Given the description of an element on the screen output the (x, y) to click on. 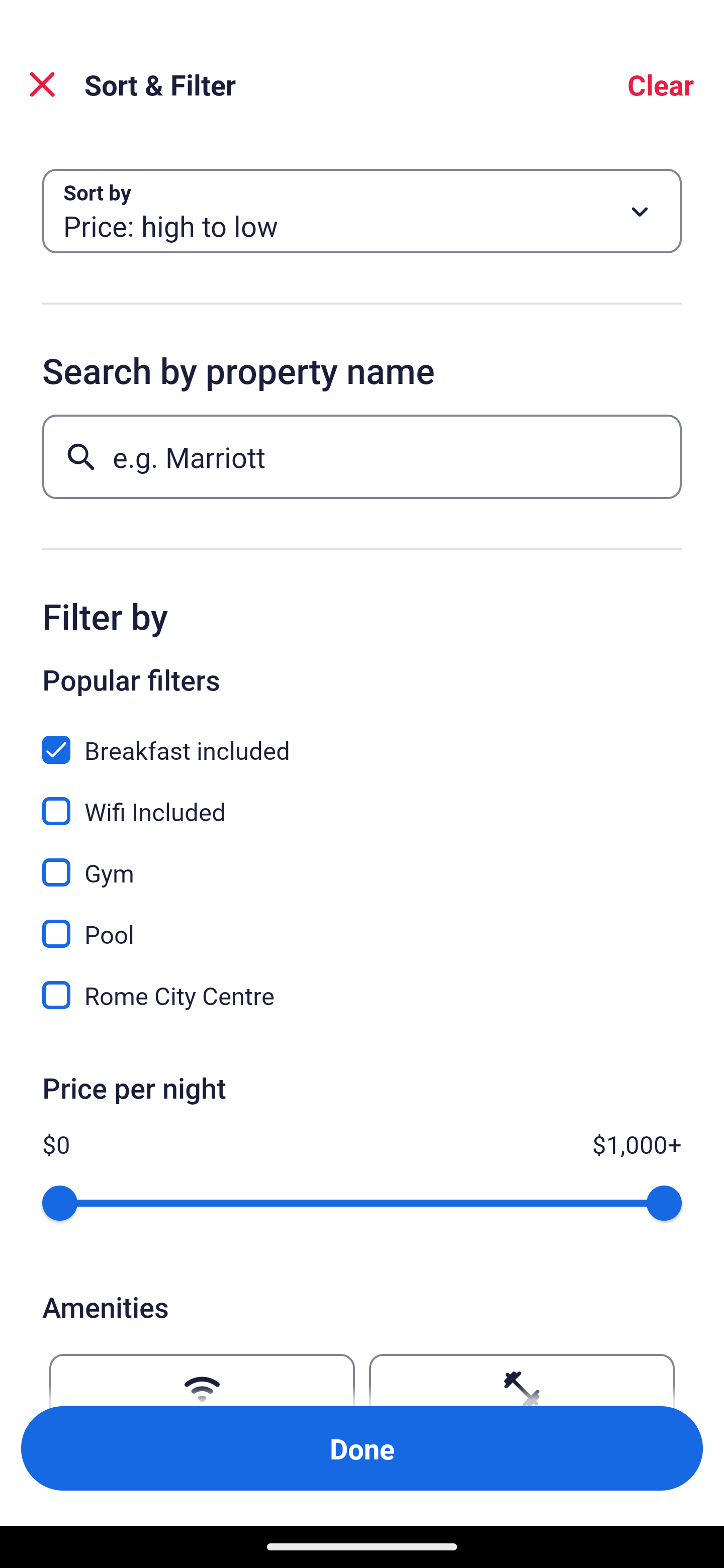
Close Sort and Filter (42, 84)
Clear (660, 84)
Sort by Button Price: high to low (361, 211)
e.g. Marriott Button (361, 455)
Breakfast included, Breakfast included (361, 738)
Wifi Included, Wifi Included (361, 800)
Gym, Gym (361, 861)
Pool, Pool (361, 922)
Rome City Centre, Rome City Centre (361, 995)
Apply and close Sort and Filter Done (361, 1448)
